Given the description of an element on the screen output the (x, y) to click on. 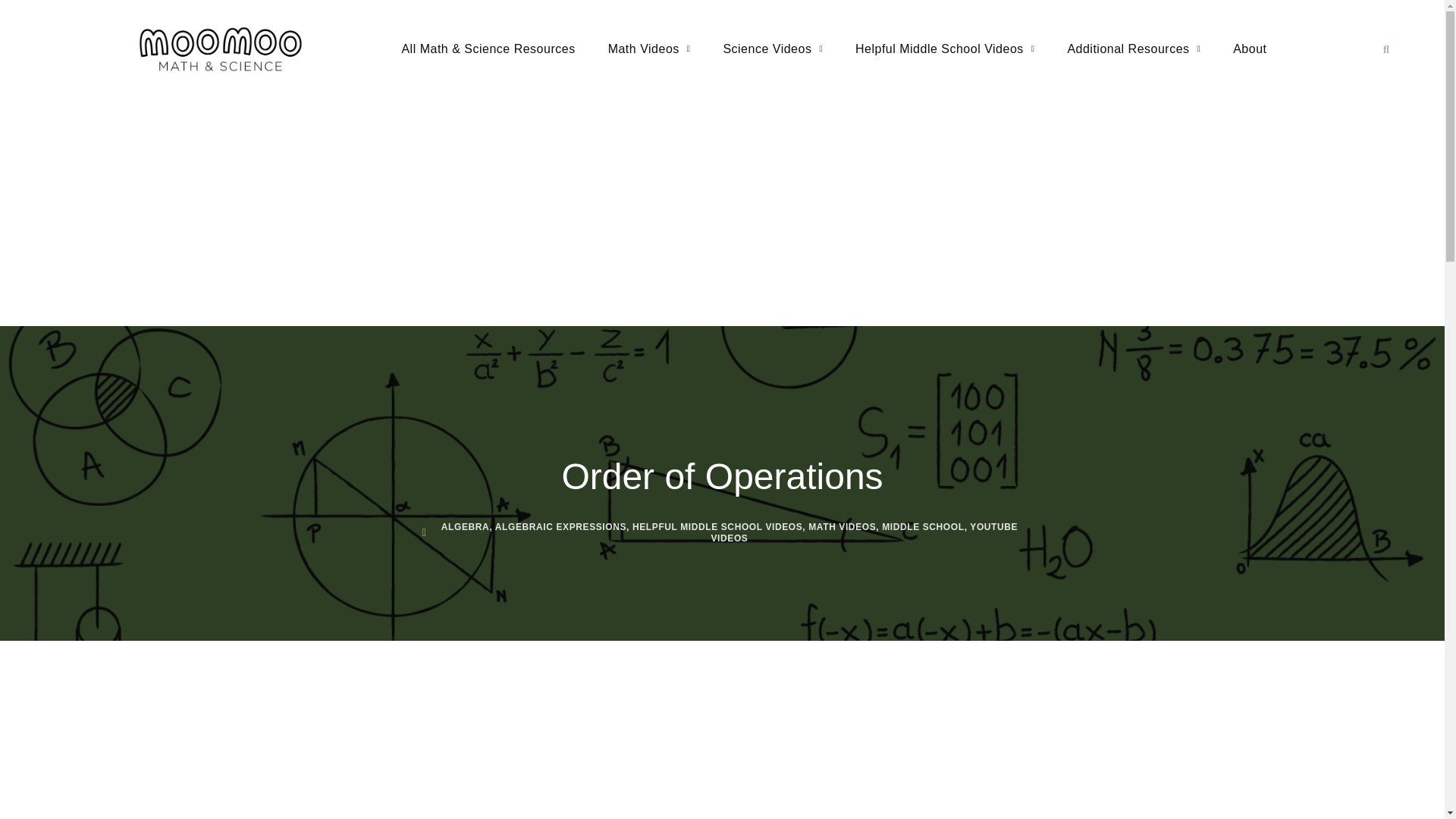
Additional Resources (1133, 49)
Helpful Middle School Videos (944, 49)
About (1249, 49)
Science Videos (772, 49)
Math Videos (649, 49)
